Given the description of an element on the screen output the (x, y) to click on. 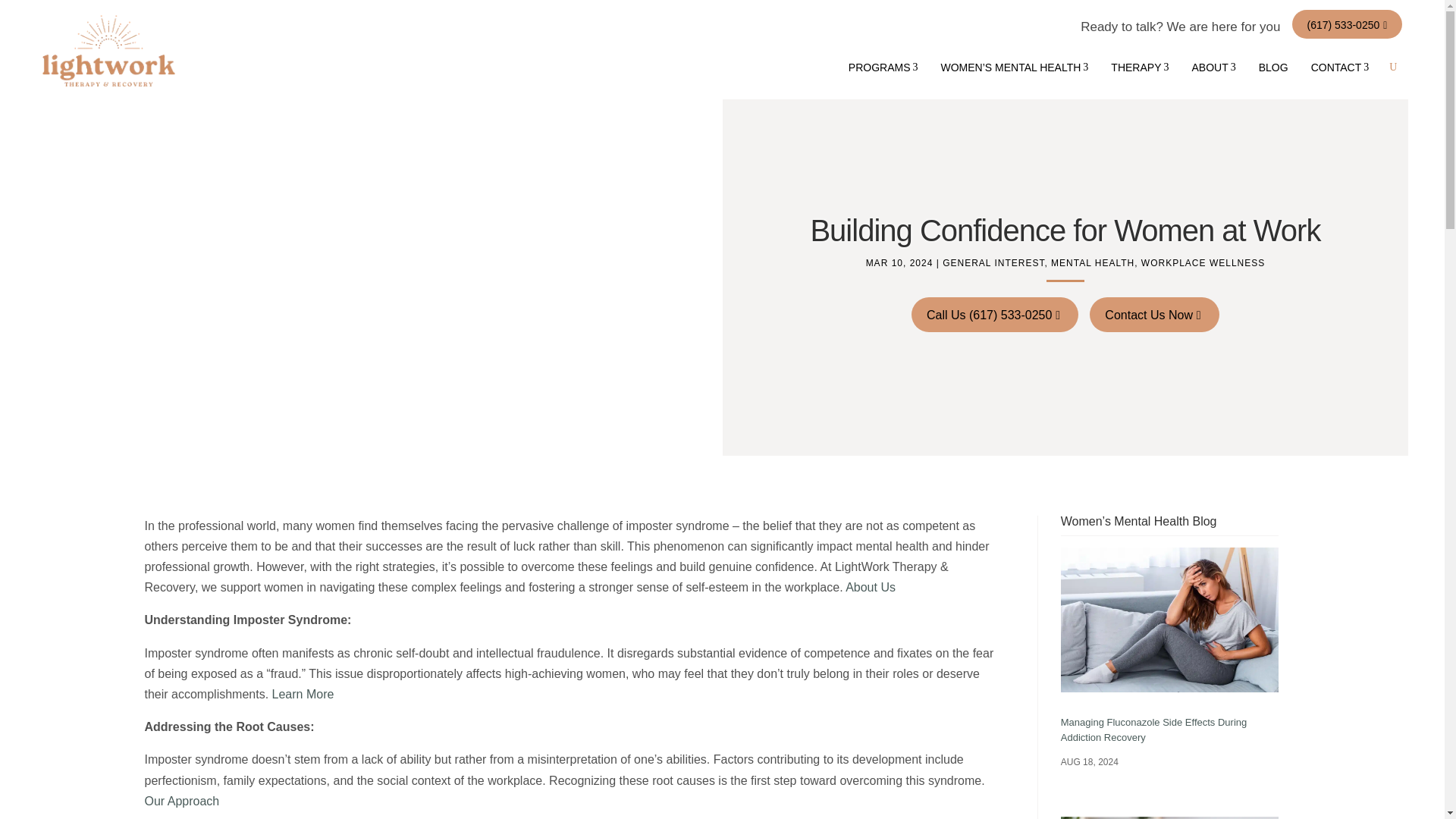
BLOG (1340, 66)
